Given the description of an element on the screen output the (x, y) to click on. 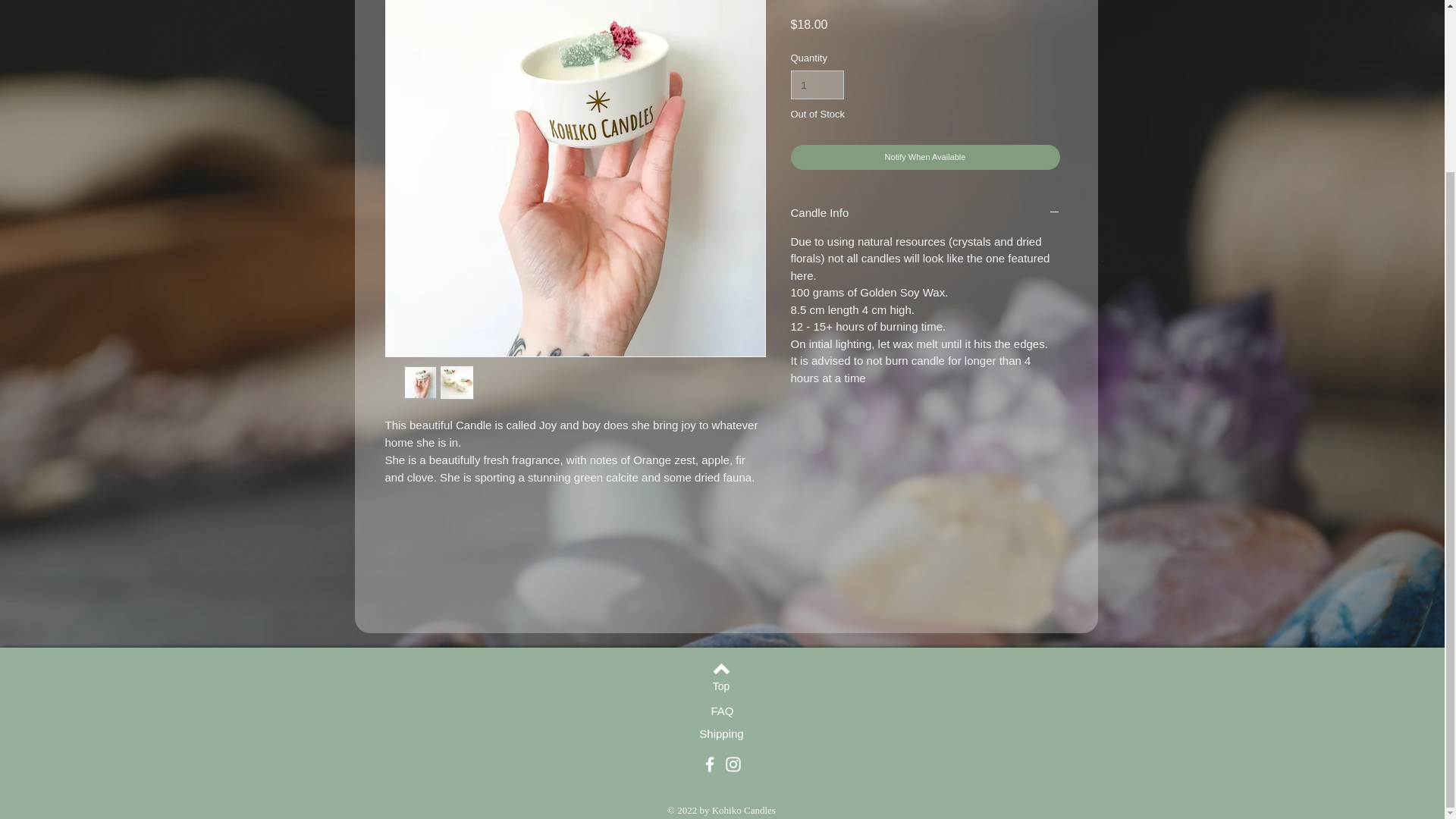
Notify When Available (924, 156)
Back to top (721, 668)
Candle Info (924, 213)
Top (721, 686)
1 (817, 84)
Shipping (720, 732)
FAQ (722, 710)
